Given the description of an element on the screen output the (x, y) to click on. 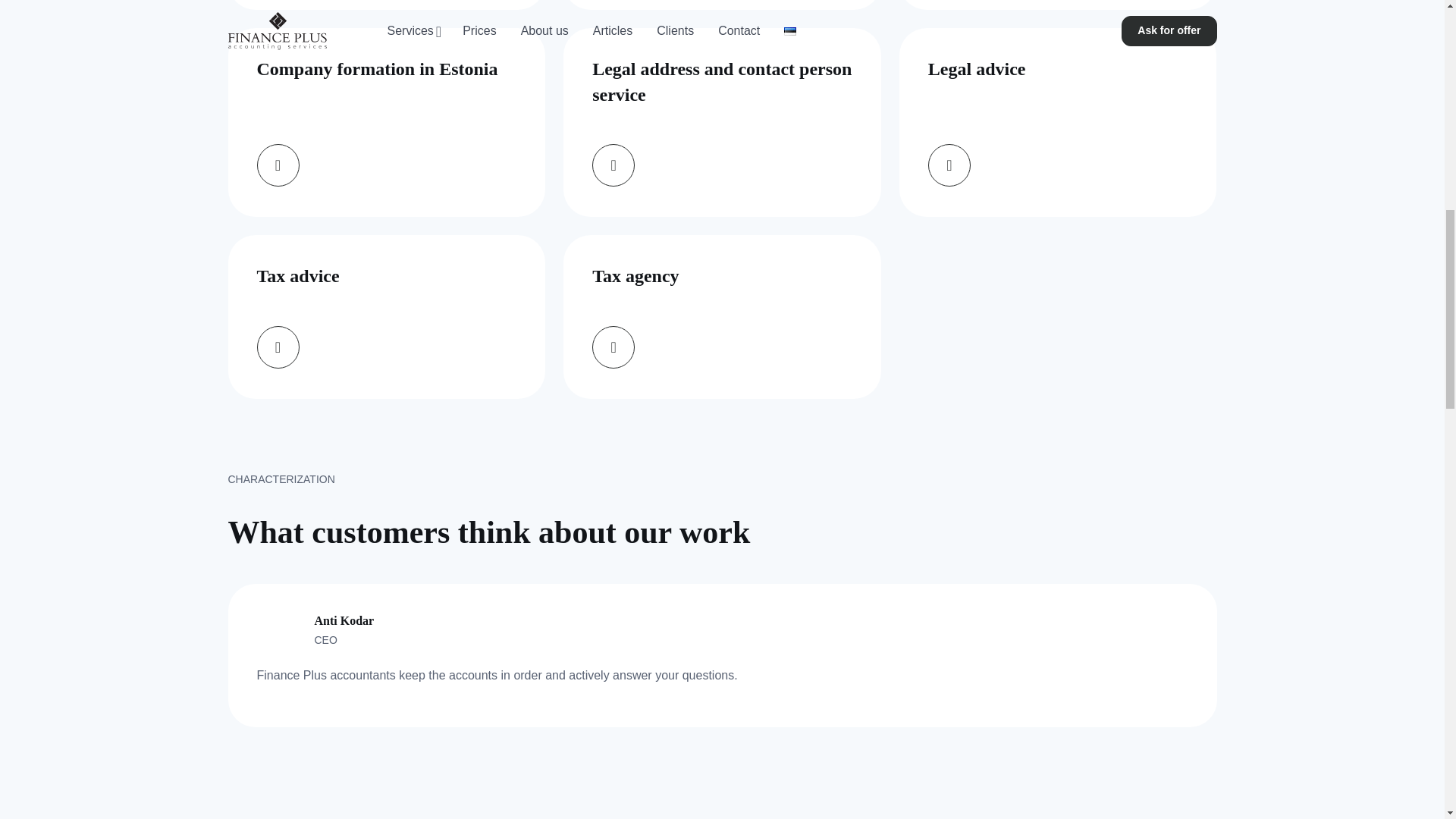
Accounting services in Estonia (385, 4)
Tax agency (721, 316)
Tax advice (385, 316)
Legal advice (1058, 122)
Legal address and contact person service (721, 122)
Applying for e-residency (721, 4)
Company formation in Estonia (385, 122)
Financial and business consulting (1058, 4)
